Given the description of an element on the screen output the (x, y) to click on. 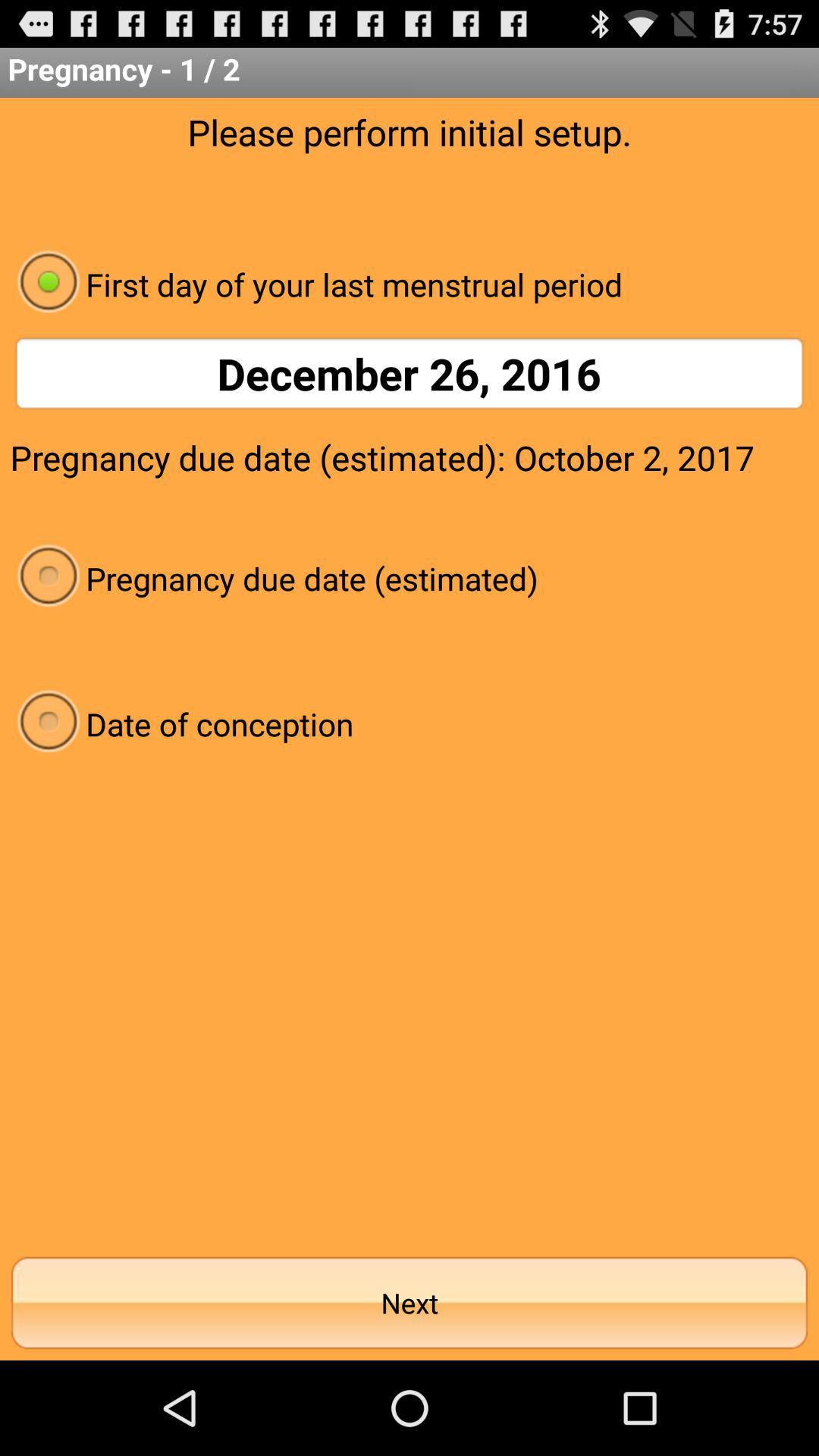
press the december 26, 2016 app (409, 373)
